Given the description of an element on the screen output the (x, y) to click on. 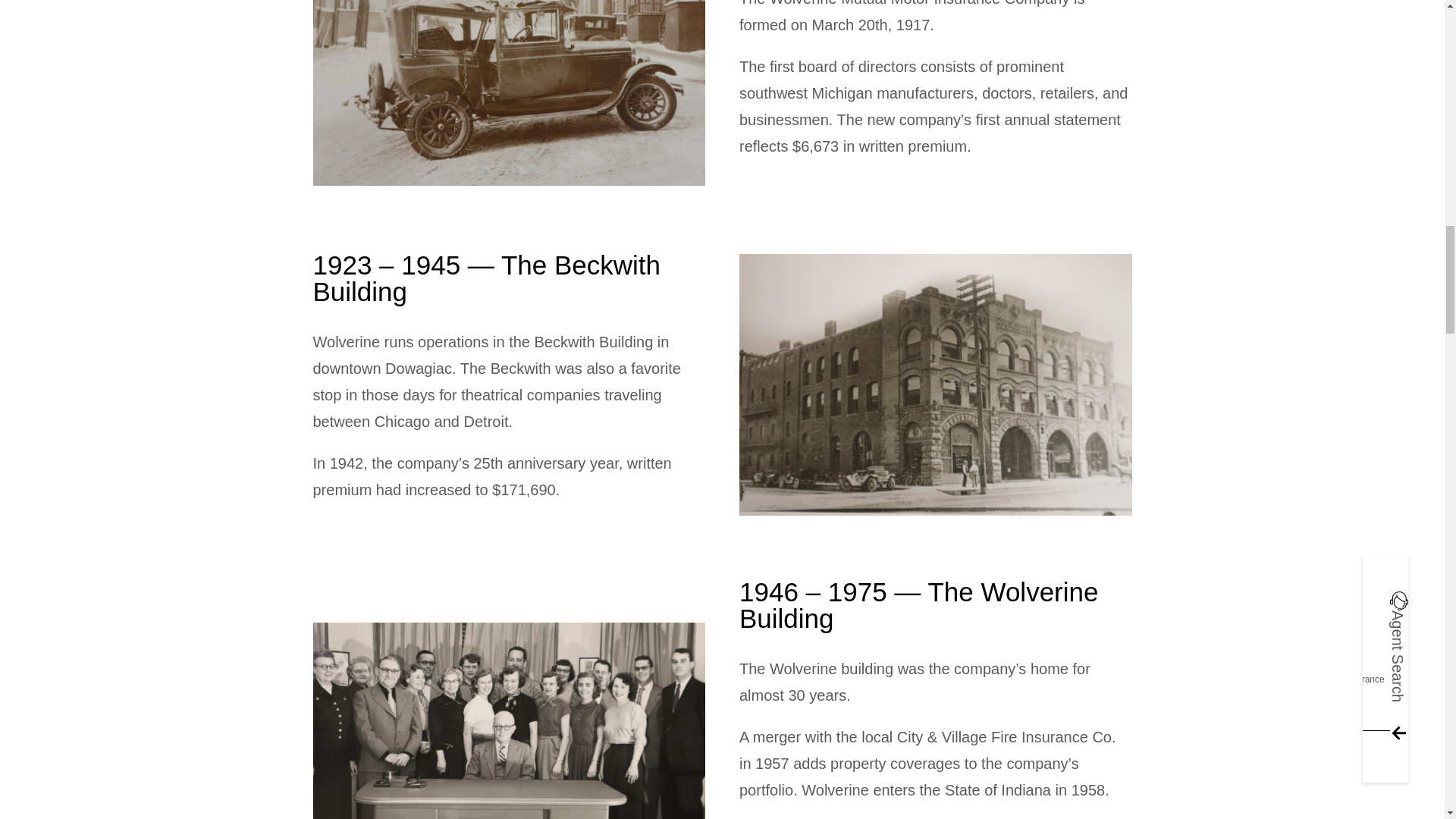
E Bruce Laing Pic (508, 720)
Old Car Repair 1 (508, 92)
Beckwidth Building (935, 384)
